Given the description of an element on the screen output the (x, y) to click on. 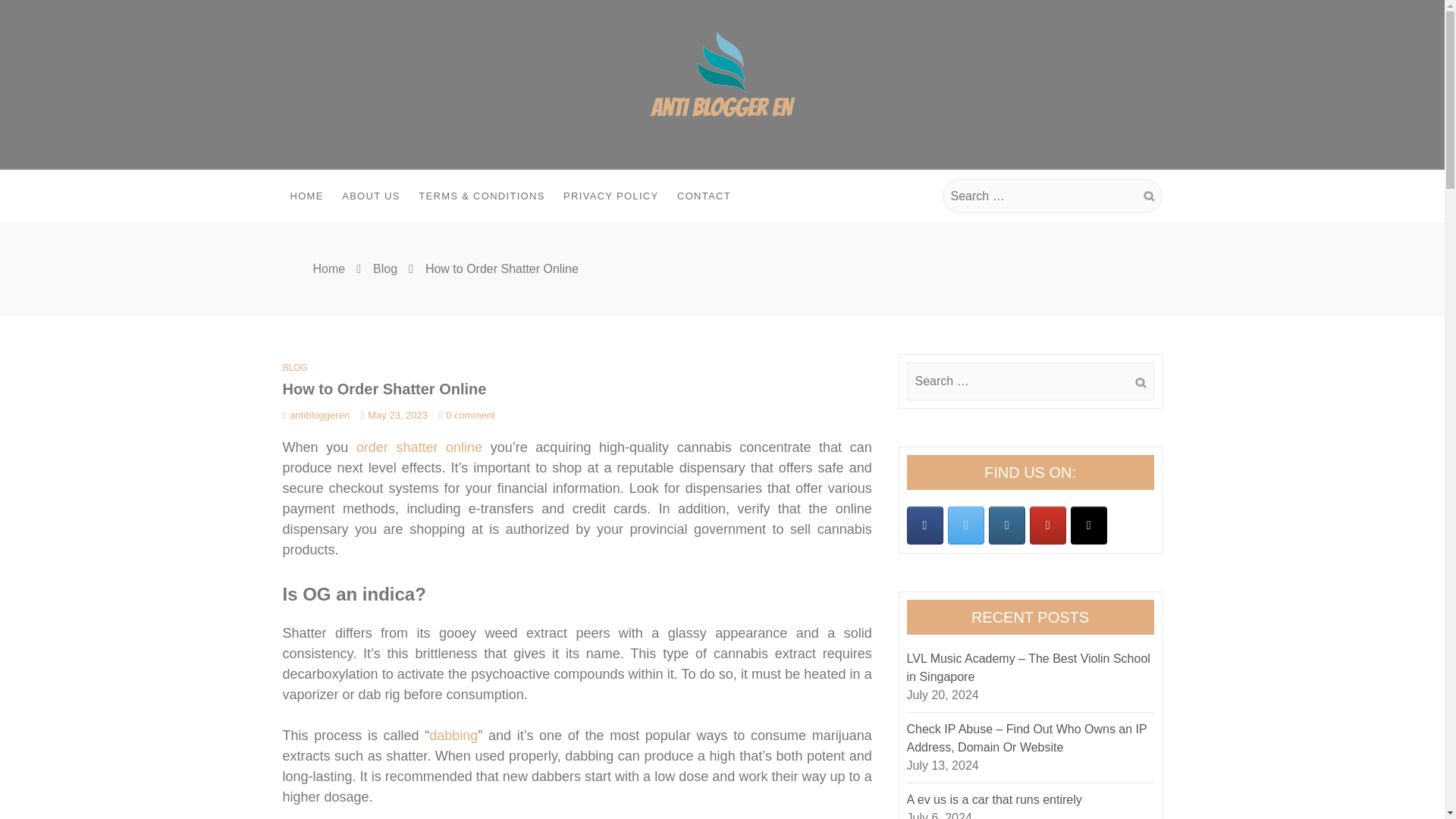
Anti Blogger EN on Instagram (1006, 525)
Search (1148, 196)
BLOG (294, 367)
CONTACT (703, 195)
Home (329, 268)
dabbing (453, 735)
A ev us is a car that runs entirely (994, 799)
ABOUT US (370, 195)
HOME (306, 195)
Search (1139, 383)
